Given the description of an element on the screen output the (x, y) to click on. 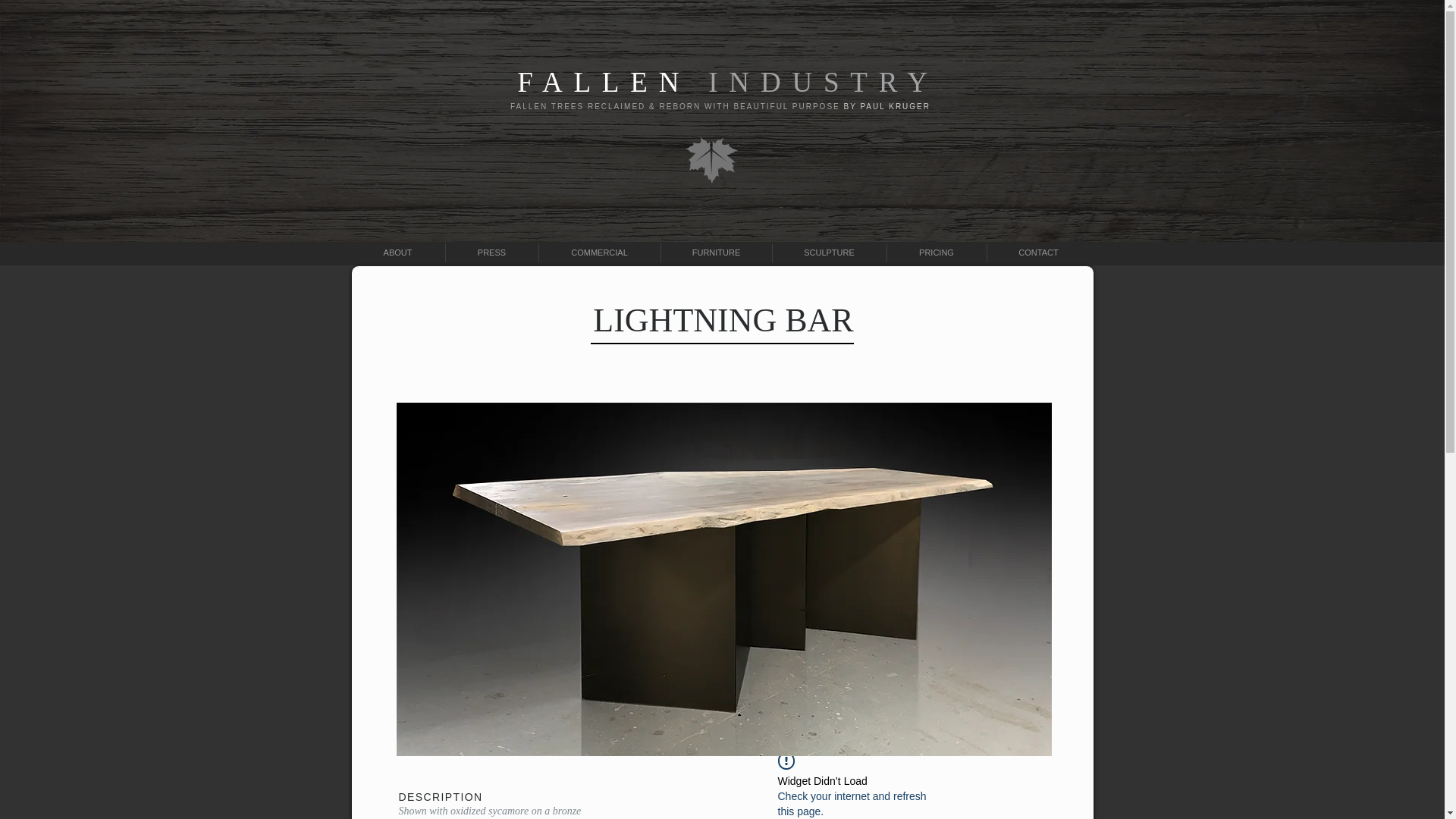
PRESS (491, 252)
COMMERCIAL (598, 252)
CONTACT (1038, 252)
PRICING (936, 252)
SCULPTURE (828, 252)
FALLEN INDUSTRY (726, 81)
ABOUT (397, 252)
FURNITURE (716, 252)
